Given the description of an element on the screen output the (x, y) to click on. 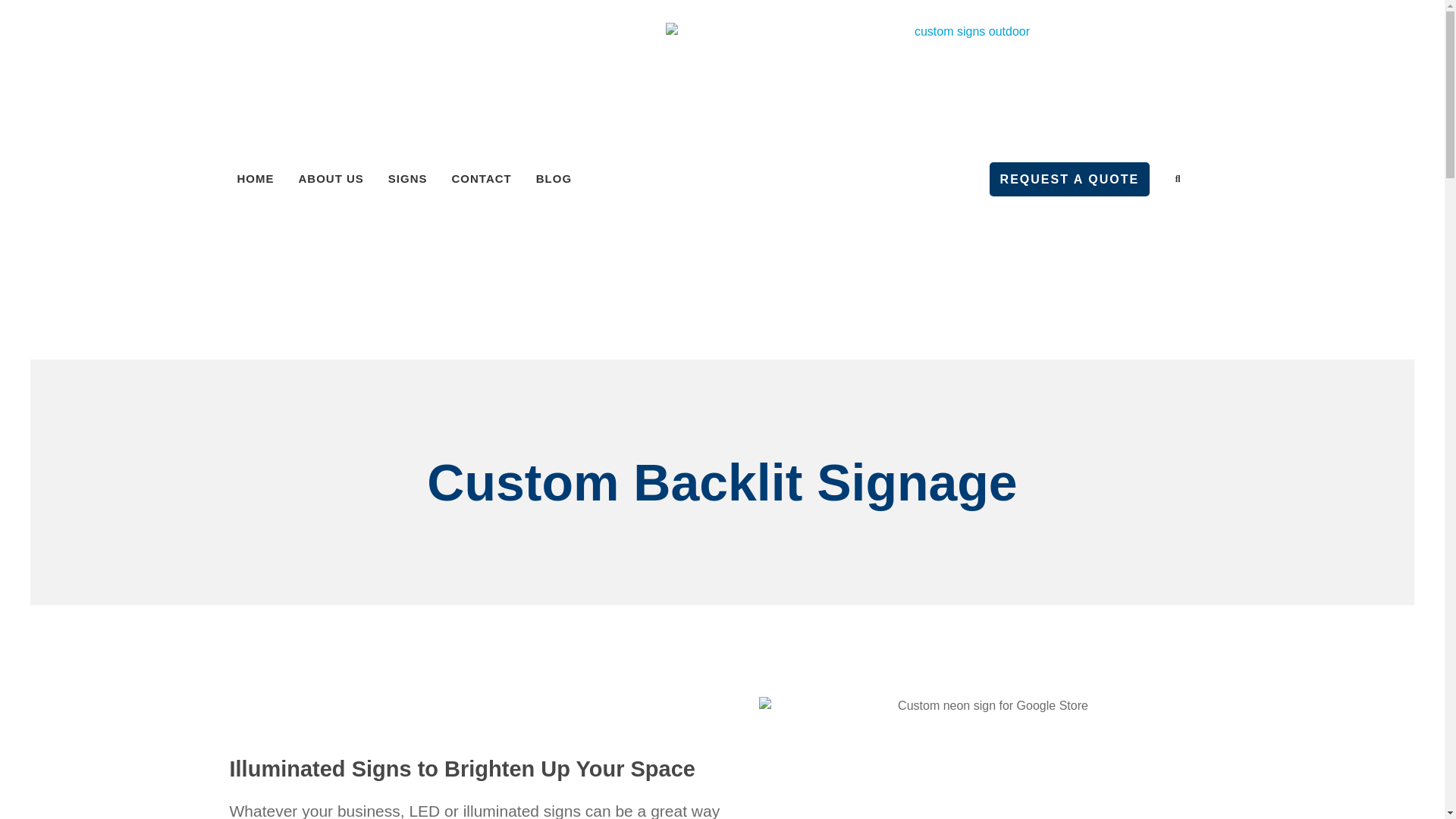
REQUEST A QUOTE (1070, 179)
BLOG (553, 178)
CONTACT (481, 178)
google-0 (986, 757)
HOME (254, 178)
ABOUT US (331, 178)
SIGNS (408, 178)
